Given the description of an element on the screen output the (x, y) to click on. 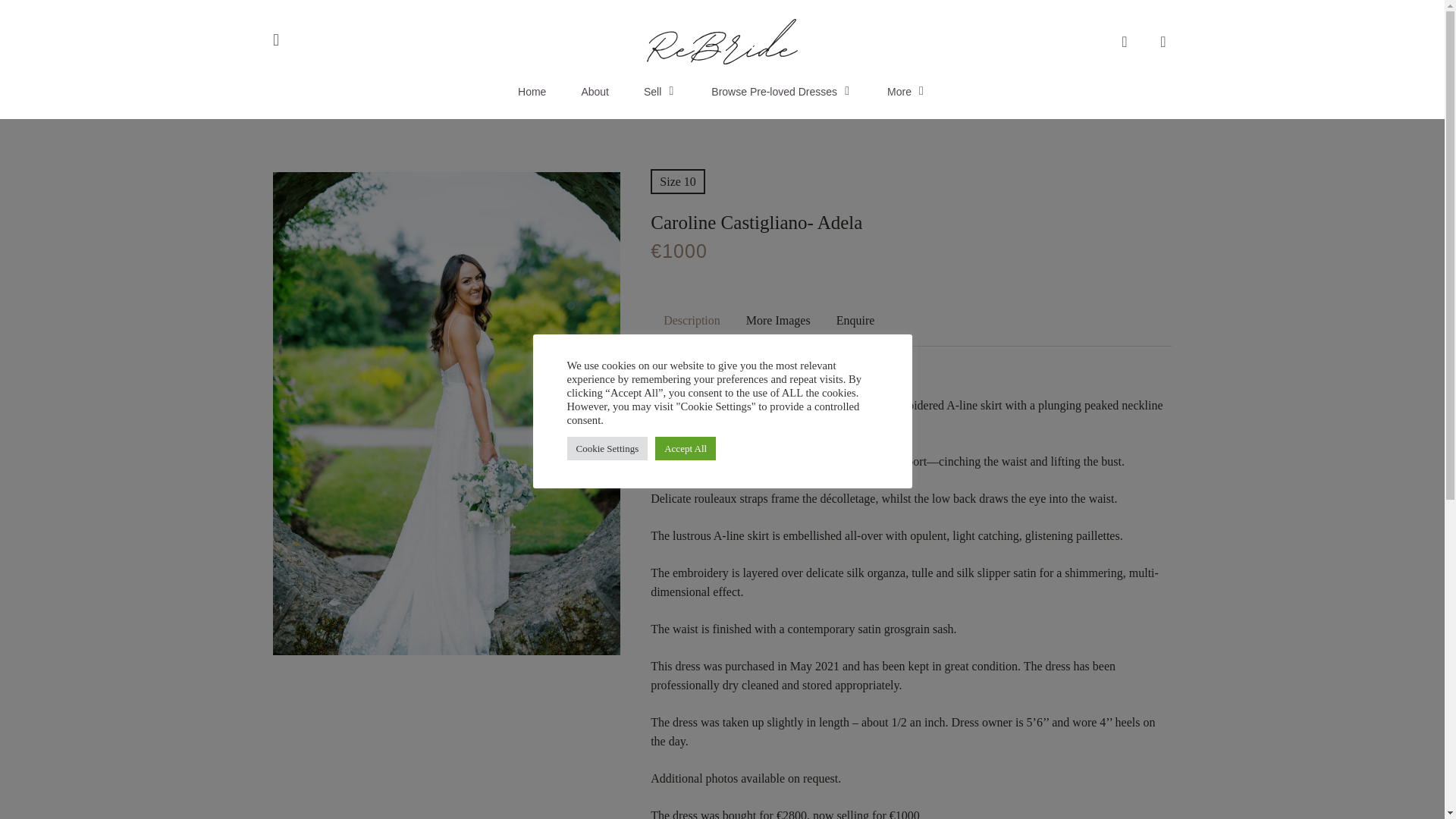
Home (531, 91)
Size 10 (677, 181)
Description (691, 320)
Sell (660, 91)
About (594, 91)
More (906, 91)
search (1124, 41)
Enquire (856, 320)
Browse Pre-loved Dresses (781, 91)
More Images (778, 320)
